Given the description of an element on the screen output the (x, y) to click on. 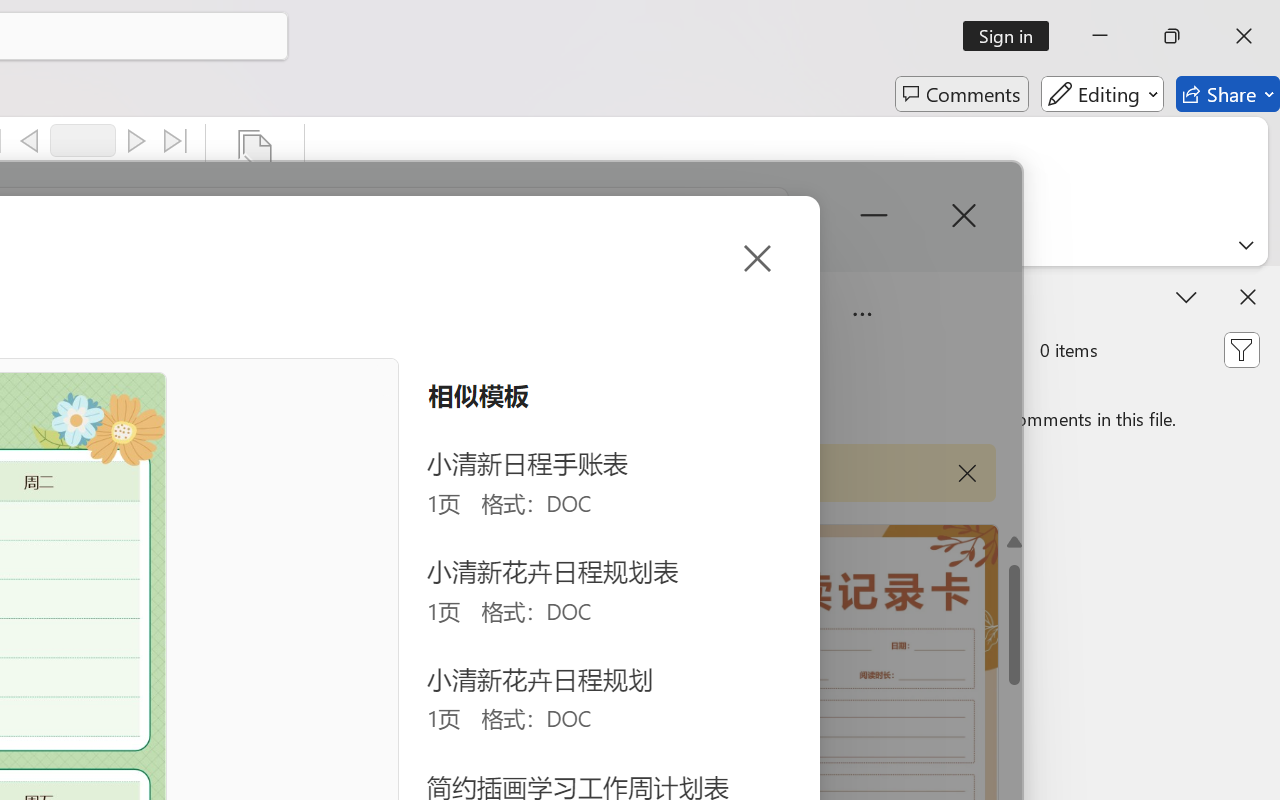
Sign in - Google Accounts (1012, 22)
New Tab (920, 22)
Google-programme (1101, 132)
Subscriptions - YouTube (276, 22)
YouTube (184, 22)
